Given the description of an element on the screen output the (x, y) to click on. 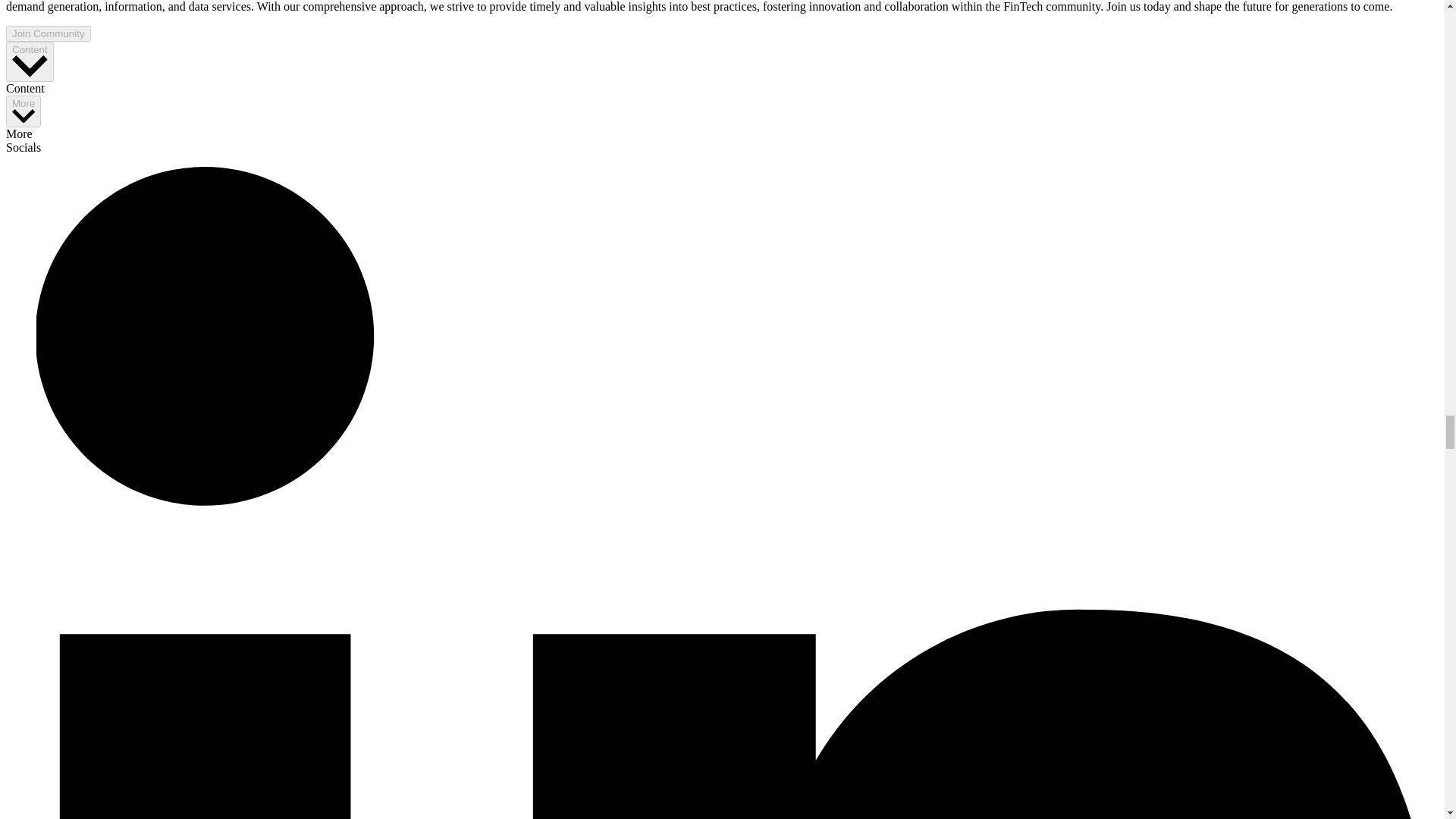
More (22, 111)
Join Community (47, 33)
Content (29, 61)
